Given the description of an element on the screen output the (x, y) to click on. 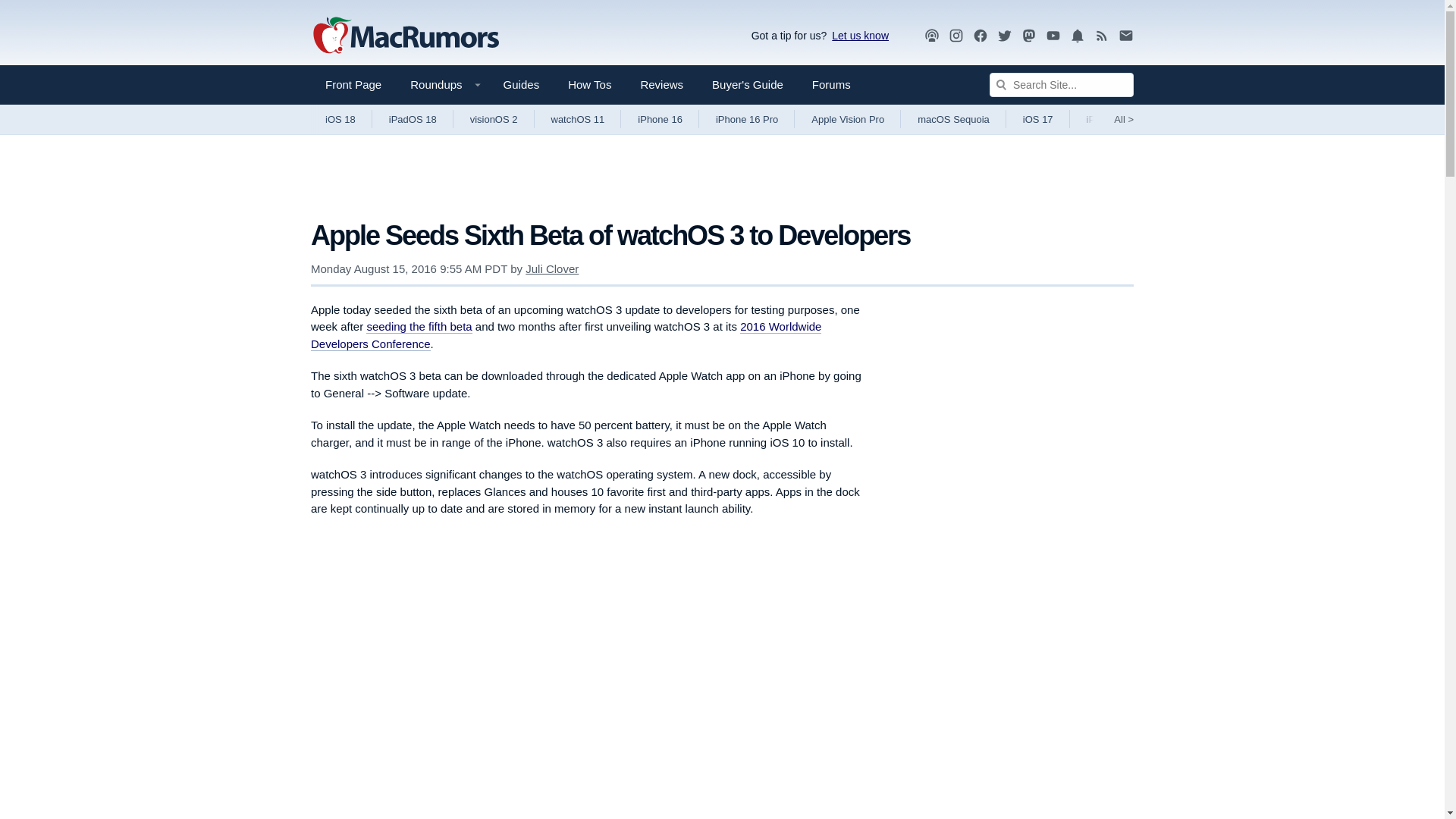
MacRumors Newsletter Signup (1126, 35)
MacRumors FaceBook Page (980, 35)
Newsletter (1126, 35)
MacRumors Show (931, 35)
Mastodon (1029, 35)
How Tos (589, 84)
MacRumors on Twitter (1004, 35)
MacRumors on Instagram (956, 35)
Notifications (1077, 35)
MacRumors on Mastodon (1029, 35)
YouTube (1053, 35)
Apple, Mac, iPhone, iPad News and Rumors (405, 36)
Roundups (441, 84)
Guides (521, 84)
MacRumors RSS Feed (1101, 35)
